Given the description of an element on the screen output the (x, y) to click on. 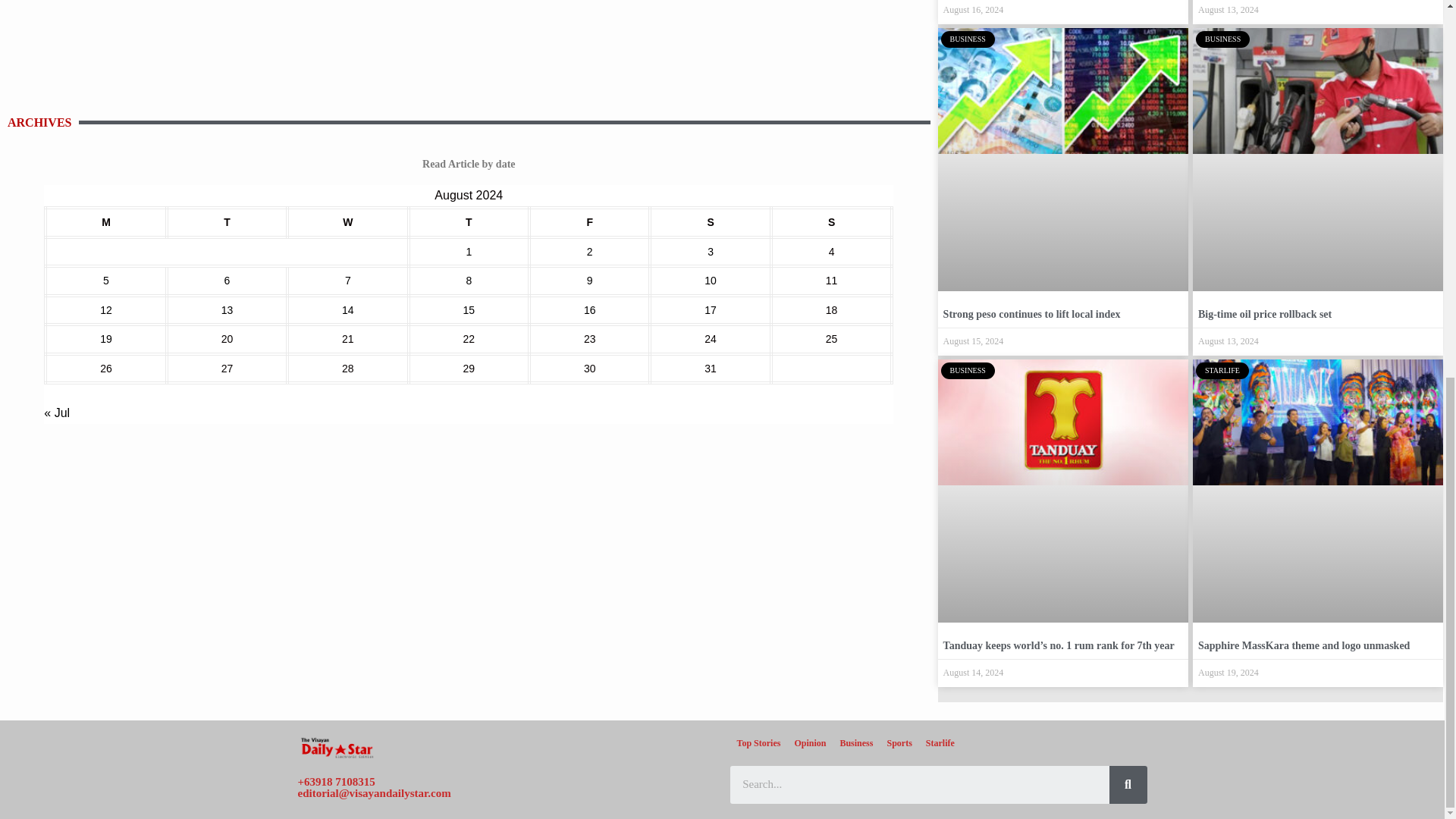
Search (918, 784)
Monday (105, 222)
13 (226, 309)
15 (468, 309)
14 (347, 309)
Thursday (469, 222)
Saturday (709, 222)
Search (1127, 784)
17 (710, 309)
Friday (589, 222)
